Given the description of an element on the screen output the (x, y) to click on. 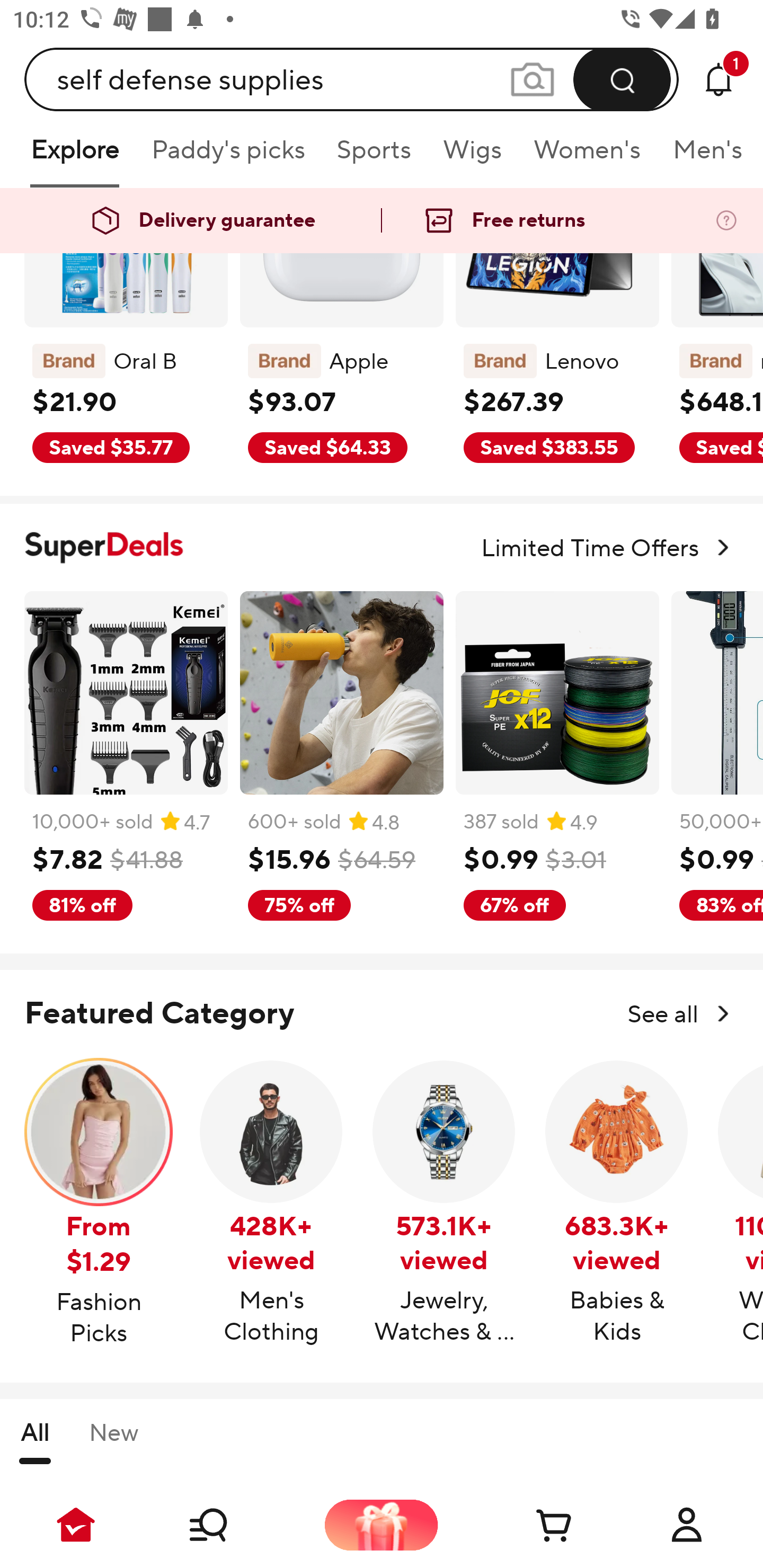
self defense supplies (351, 79)
Paddy's picks (227, 155)
Sports (373, 155)
Wigs (472, 155)
Women's (586, 155)
Men's (701, 155)
From $1.29 Fashion Picks (98, 1204)
428K+ viewed Men's Clothing (270, 1203)
573.1K+ viewed Jewelry, Watches & Accessories (444, 1203)
683.3K+ viewed Babies & Kids (616, 1203)
New (113, 1440)
Shop (228, 1524)
Cart (533, 1524)
Account (686, 1524)
